Given the description of an element on the screen output the (x, y) to click on. 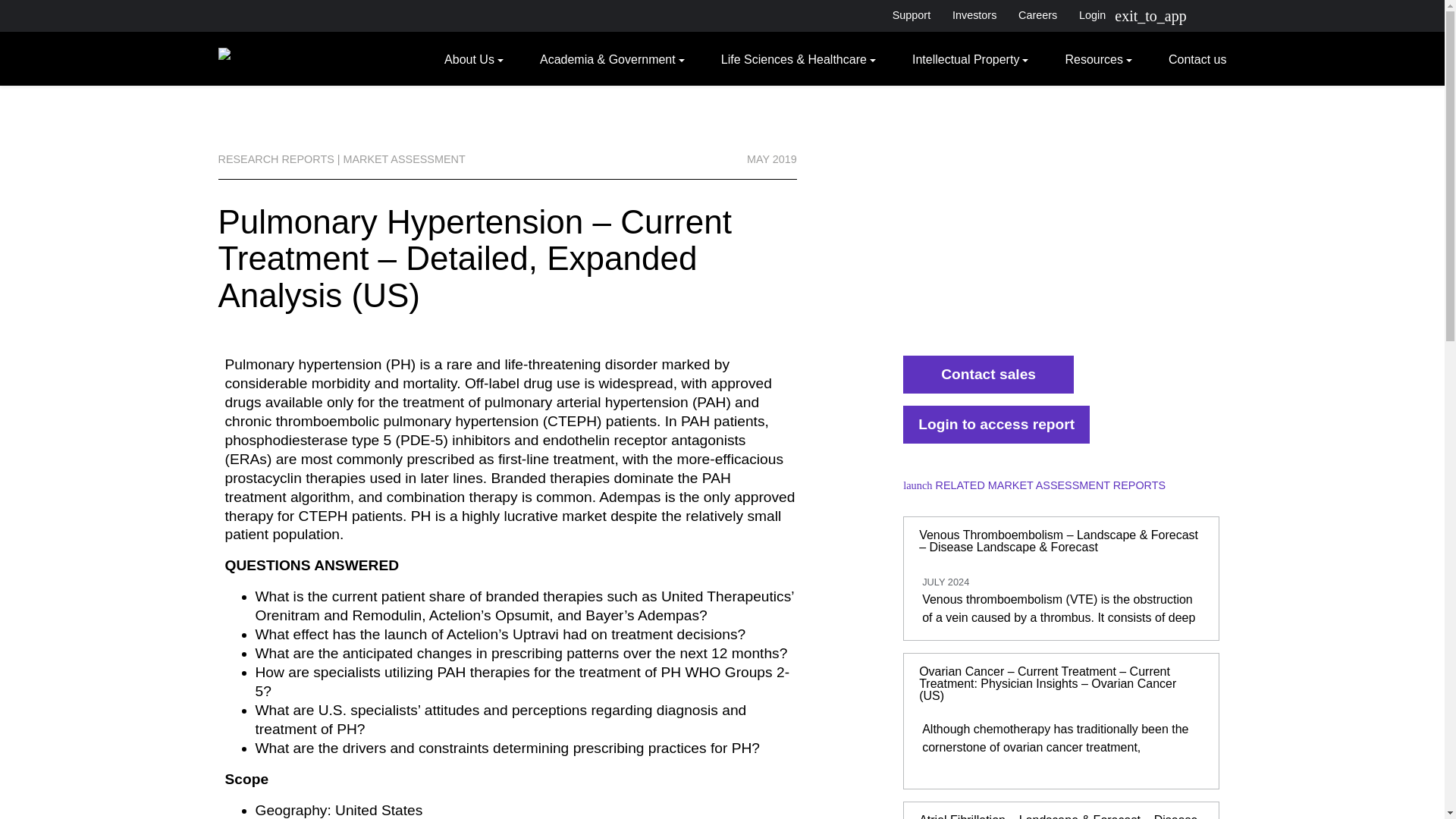
About Us (473, 58)
Careers (1037, 15)
Investors (974, 15)
Support (910, 15)
